Given the description of an element on the screen output the (x, y) to click on. 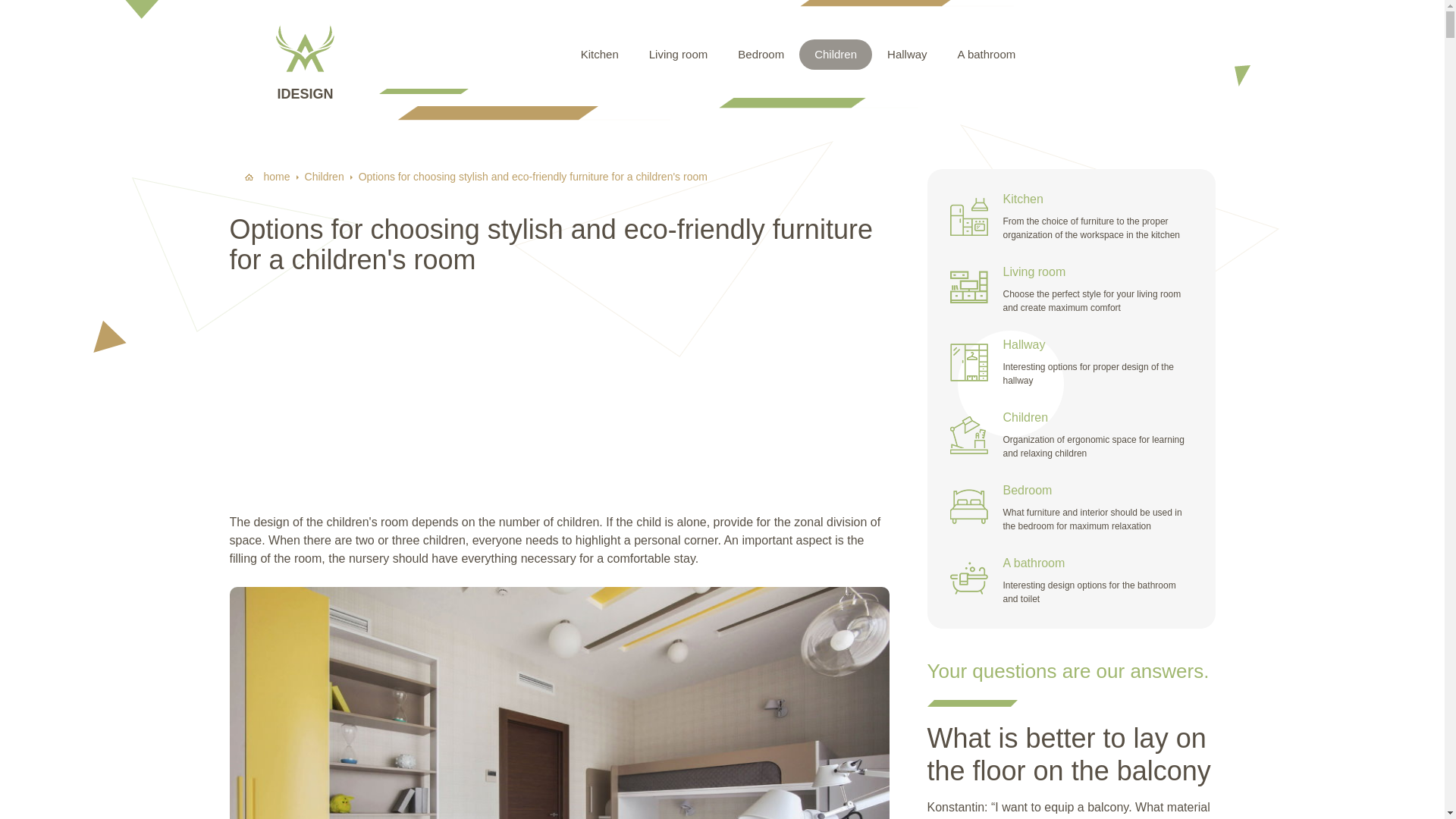
IDESIGN (304, 53)
A bathroom (986, 54)
Hallway (907, 54)
Children (835, 54)
Living room (678, 54)
Bedroom (760, 54)
Children (323, 176)
home (266, 176)
Kitchen (599, 54)
